Given the description of an element on the screen output the (x, y) to click on. 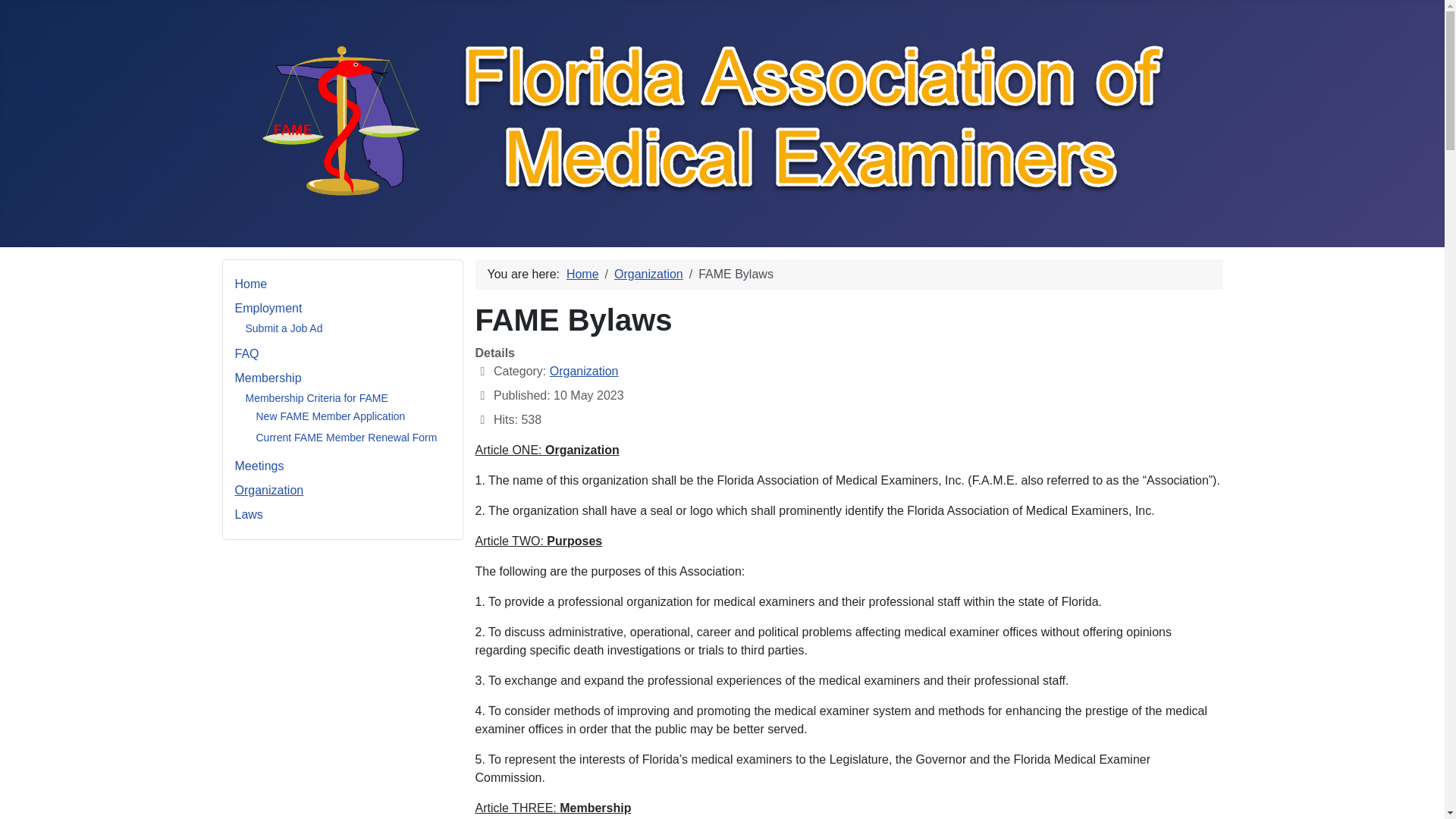
Laws (248, 513)
Membership (267, 377)
Organization (584, 370)
Meetings (258, 465)
Current FAME Member Renewal Form (347, 437)
Home (582, 273)
Membership Criteria for FAME (317, 397)
FAQ (246, 353)
New FAME Member Application (331, 416)
Organization (648, 273)
Submit a Job Ad (284, 327)
Organization (269, 490)
Home (250, 283)
Employment (268, 308)
